Given the description of an element on the screen output the (x, y) to click on. 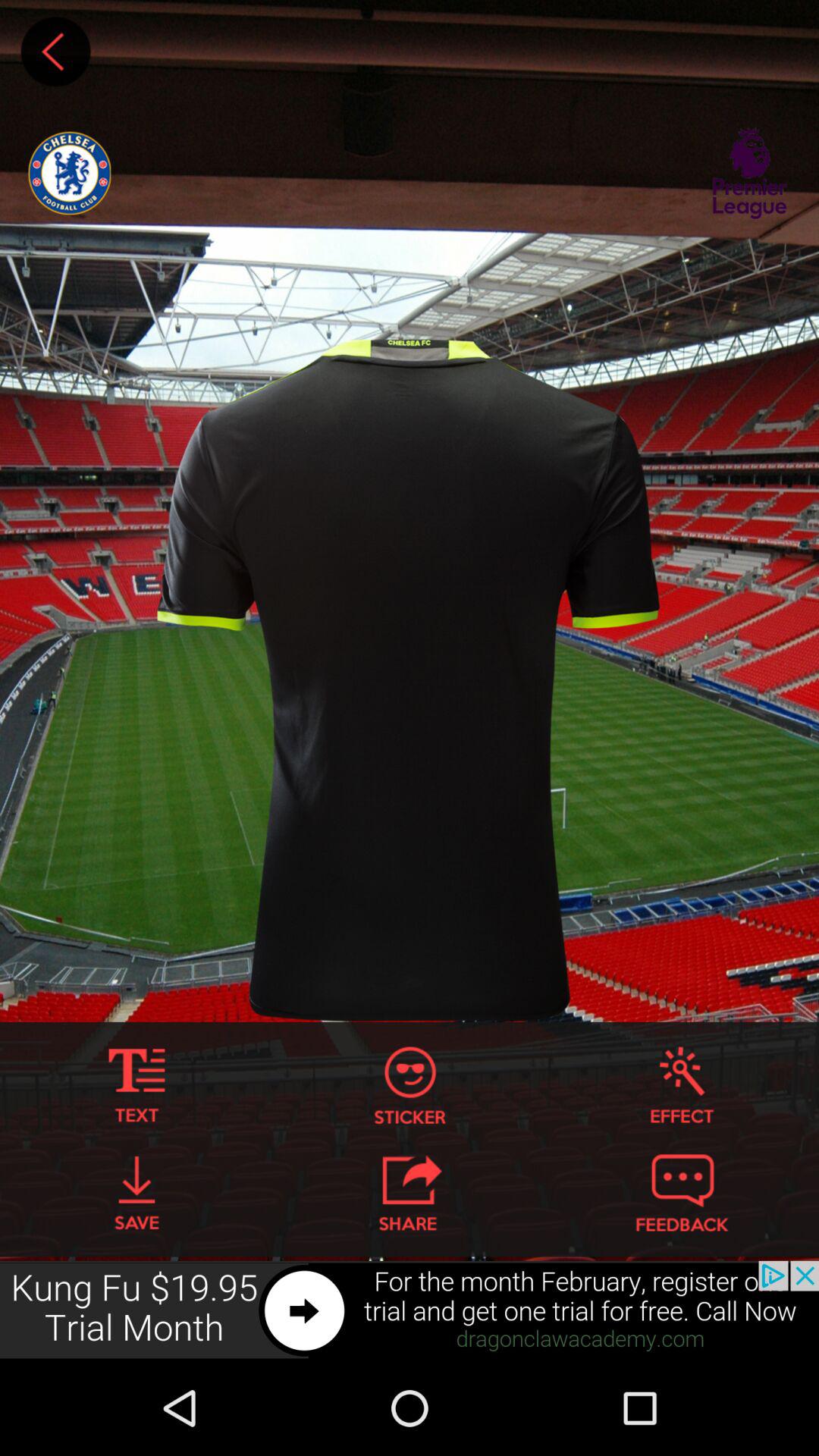
add a filter to the iage (682, 1085)
